Given the description of an element on the screen output the (x, y) to click on. 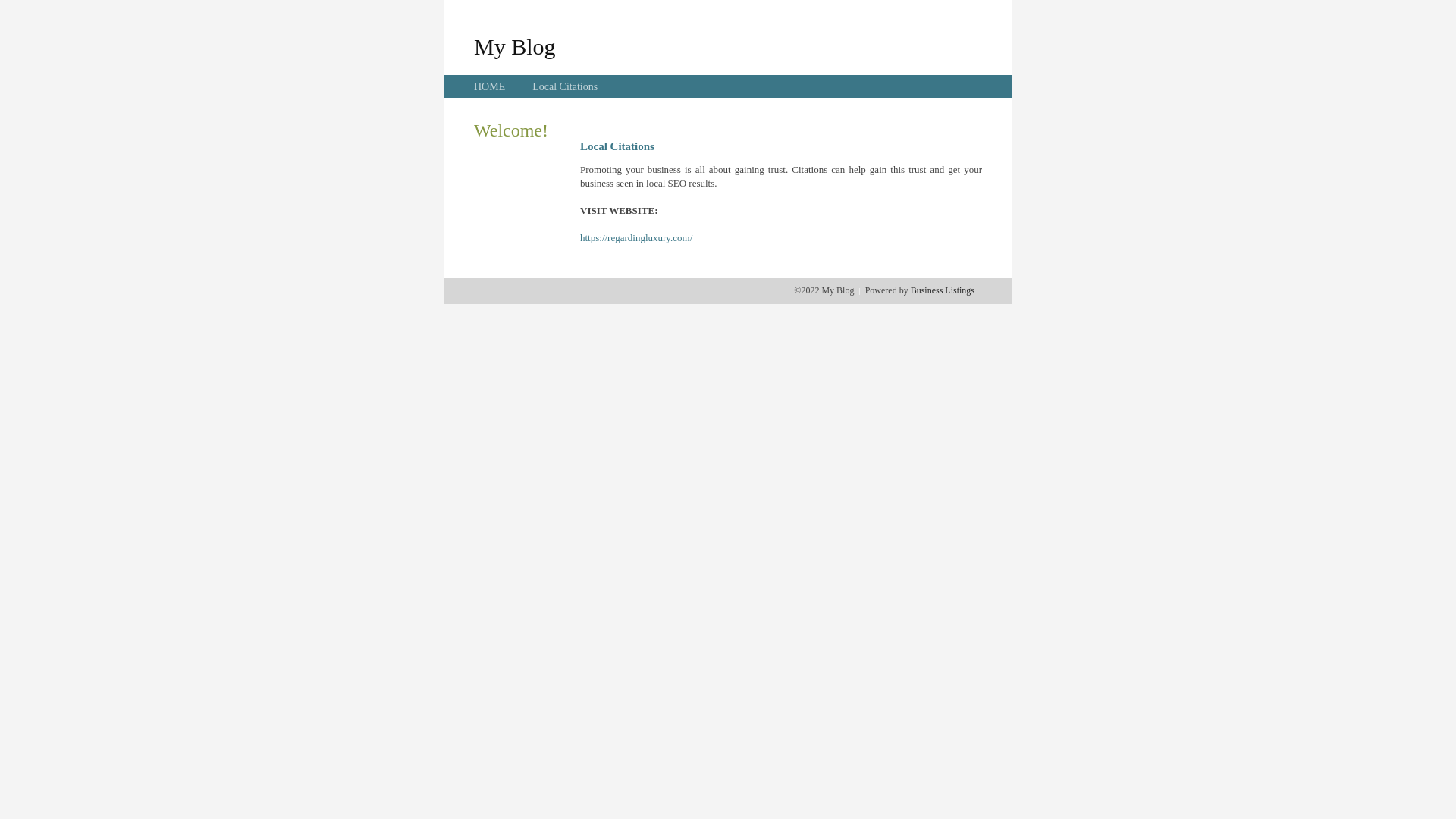
My Blog Element type: text (514, 46)
Local Citations Element type: text (564, 86)
HOME Element type: text (489, 86)
https://regardingluxury.com/ Element type: text (636, 237)
Business Listings Element type: text (942, 290)
